Given the description of an element on the screen output the (x, y) to click on. 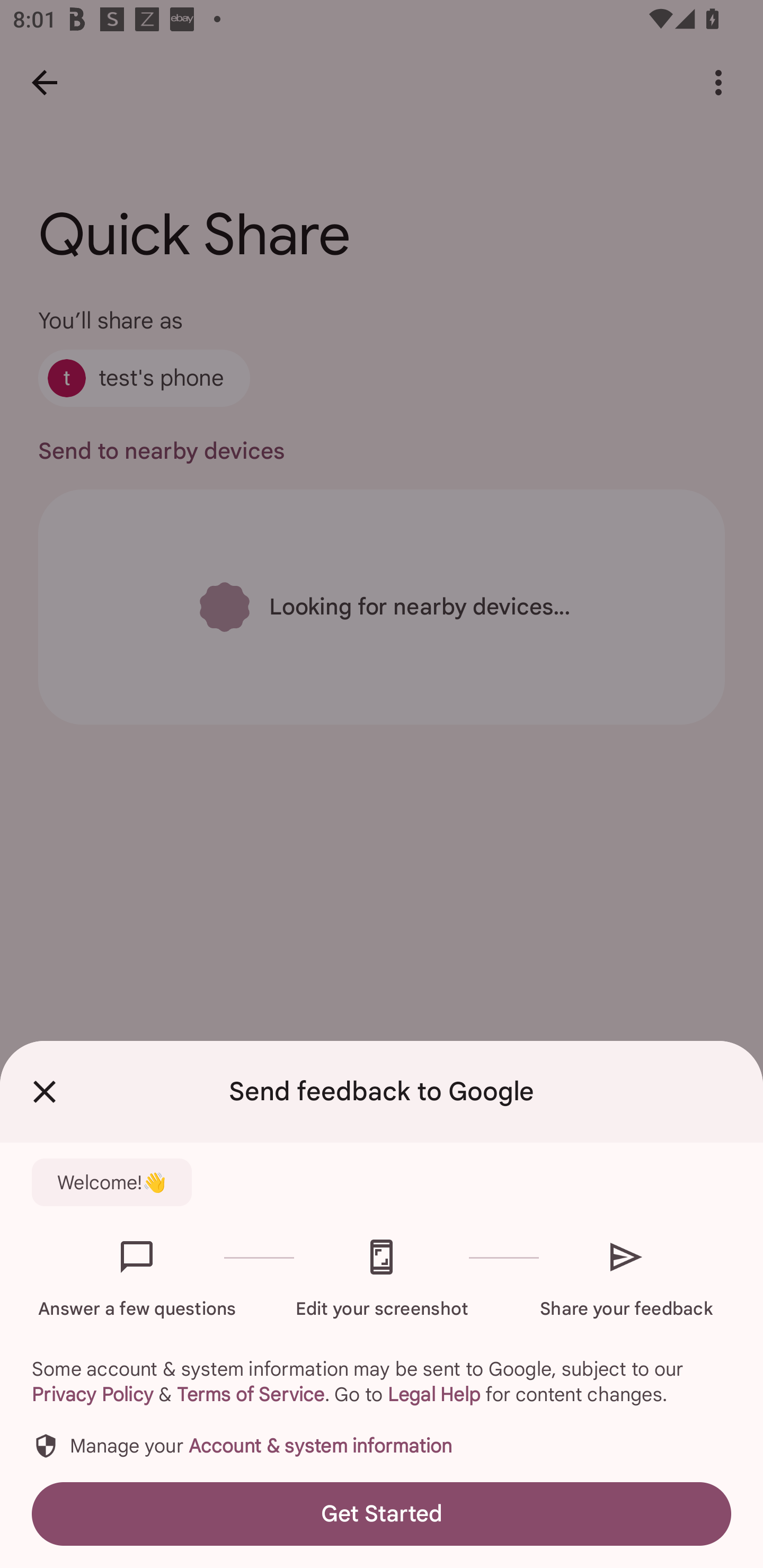
Close Feedback (44, 1091)
Get Started (381, 1513)
